Given the description of an element on the screen output the (x, y) to click on. 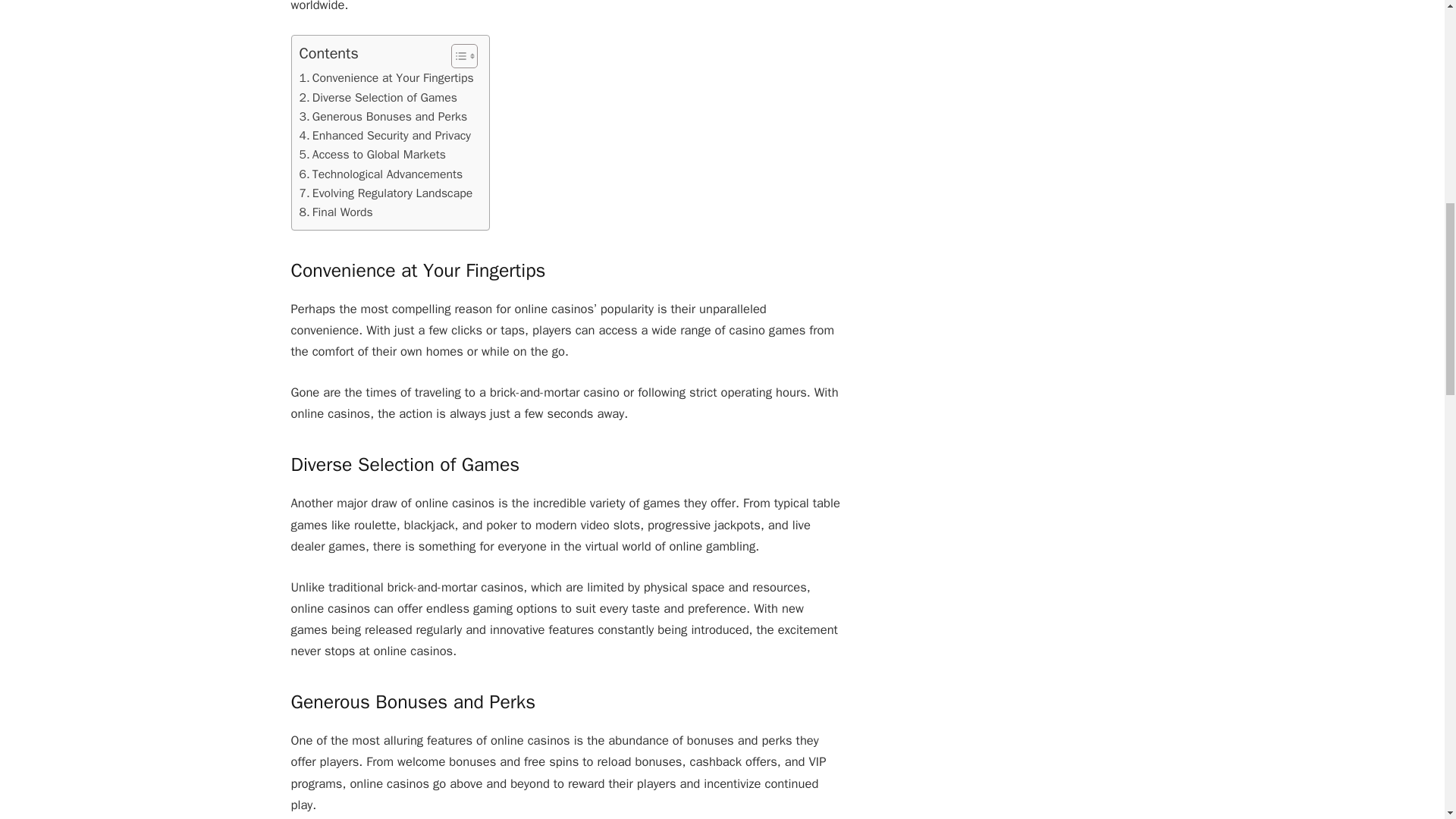
Final Words (335, 212)
Convenience at Your Fingertips (385, 77)
Enhanced Security and Privacy (384, 135)
Generous Bonuses and Perks (382, 116)
Access to Global Markets (371, 154)
Convenience at Your Fingertips (385, 77)
Enhanced Security and Privacy (384, 135)
Evolving Regulatory Landscape (384, 193)
Diverse Selection of Games (377, 97)
Technological Advancements (380, 174)
